Given the description of an element on the screen output the (x, y) to click on. 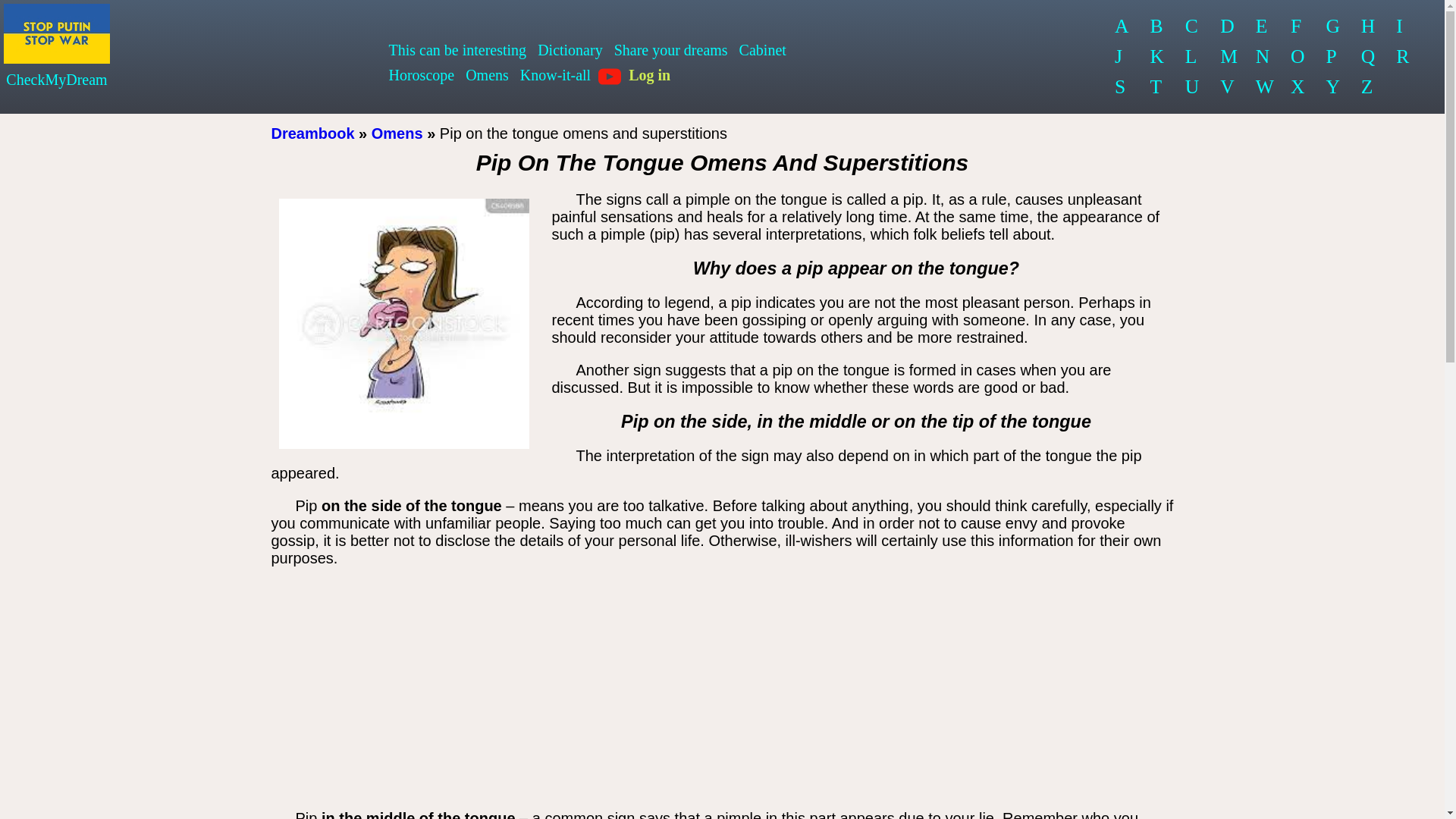
Share your dreams (671, 50)
C (1192, 26)
M (1227, 56)
Z (1369, 87)
N (1262, 56)
Y (1332, 87)
V (1227, 87)
Dictionary (570, 50)
J (1121, 56)
E (1262, 26)
